Given the description of an element on the screen output the (x, y) to click on. 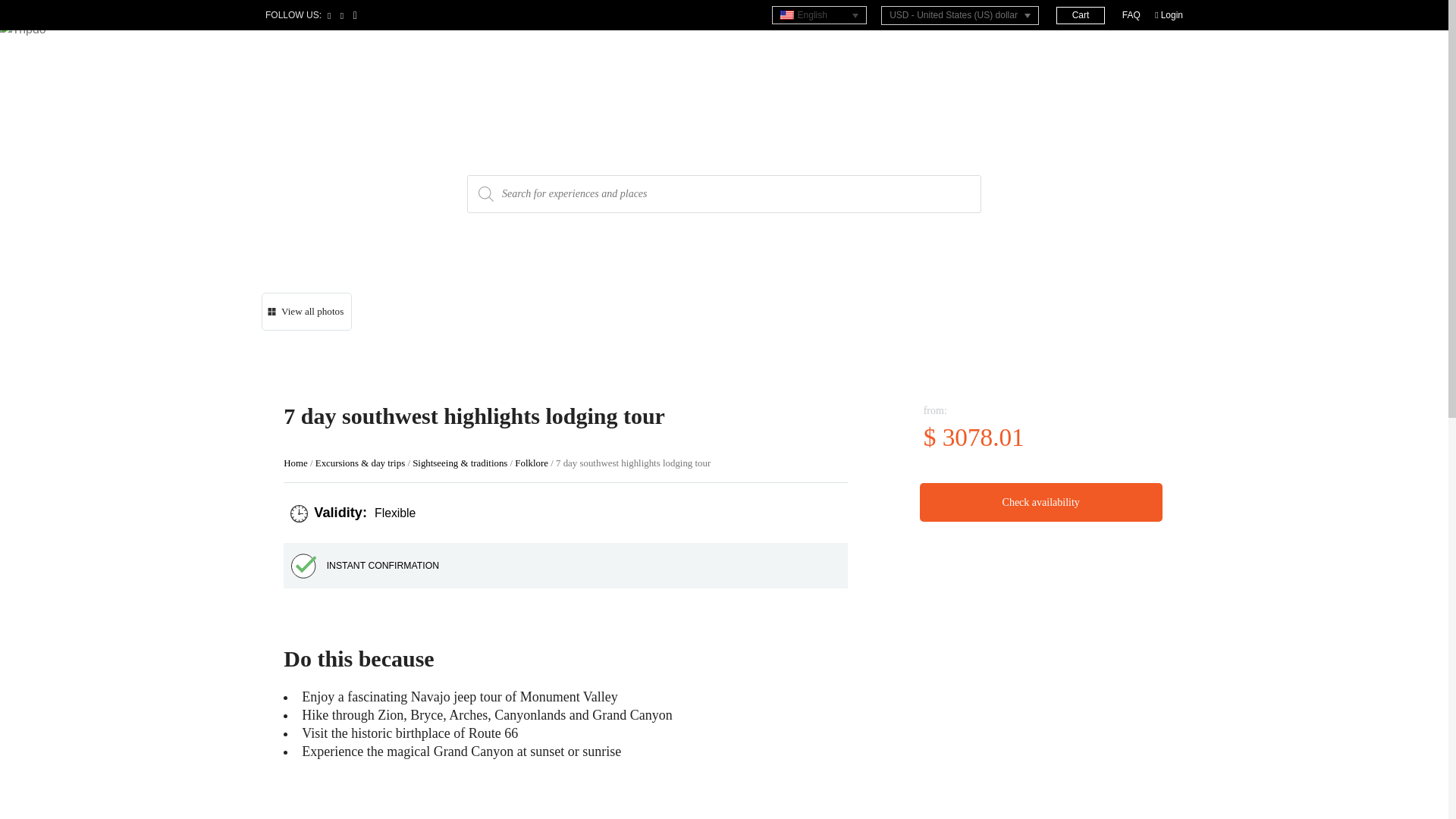
English (818, 15)
